Given the description of an element on the screen output the (x, y) to click on. 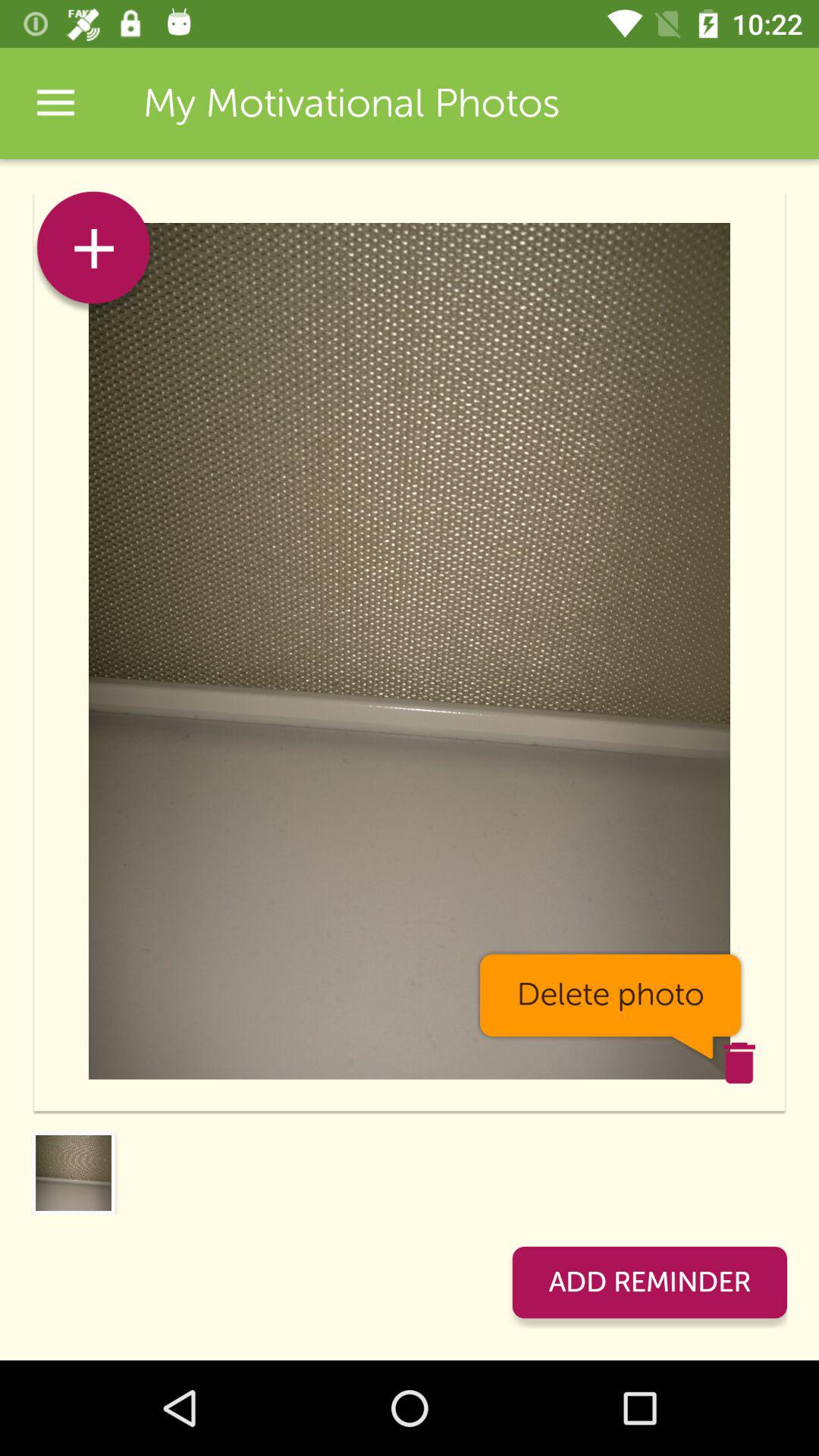
turn on the add reminder icon (649, 1282)
